Given the description of an element on the screen output the (x, y) to click on. 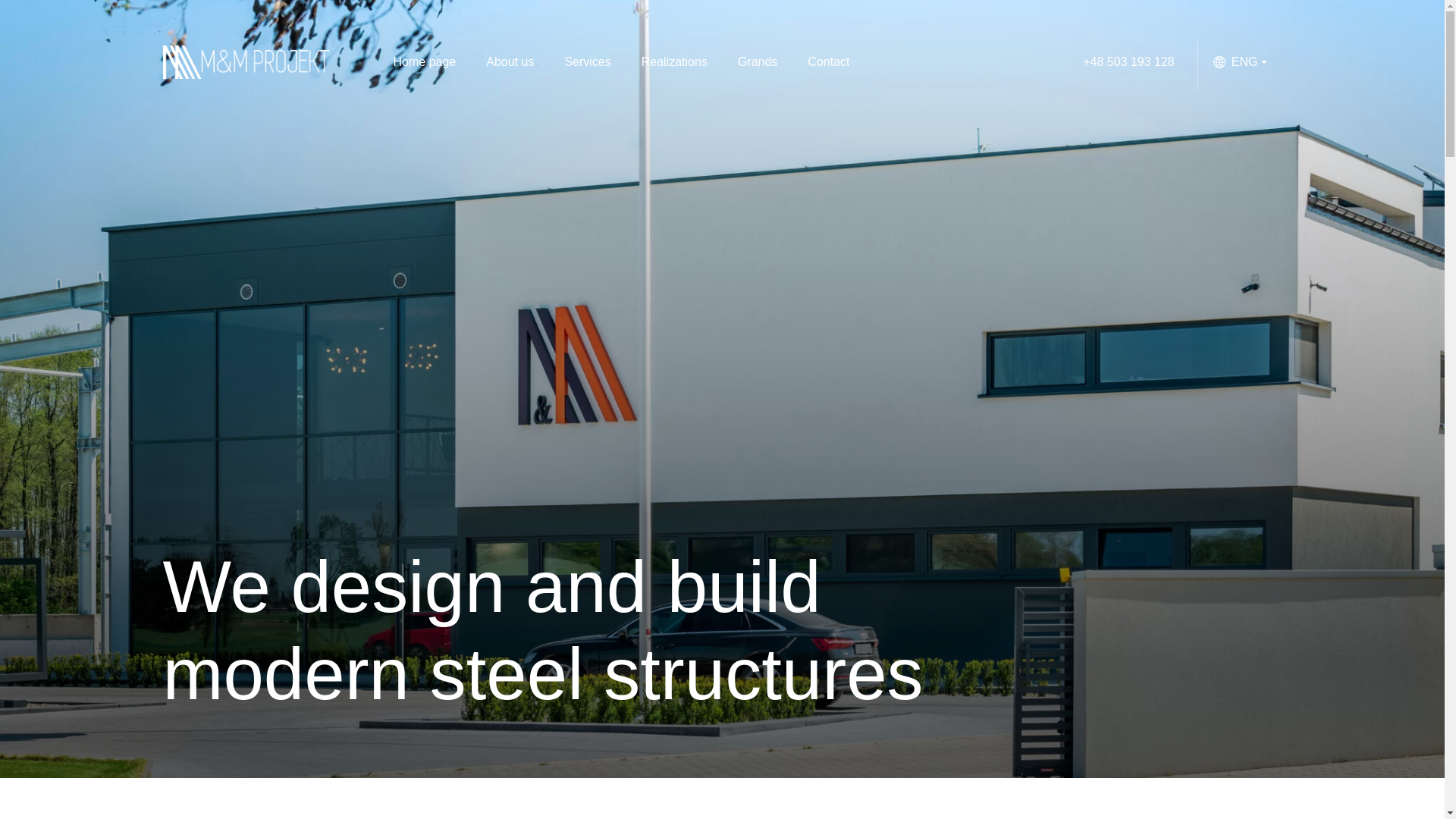
Services (587, 61)
Grands (757, 61)
ENG (1240, 61)
Grands (757, 61)
About us (509, 61)
About us (509, 61)
Home page (423, 61)
Home page (423, 61)
Realizations (674, 61)
Realizations (674, 61)
